Given the description of an element on the screen output the (x, y) to click on. 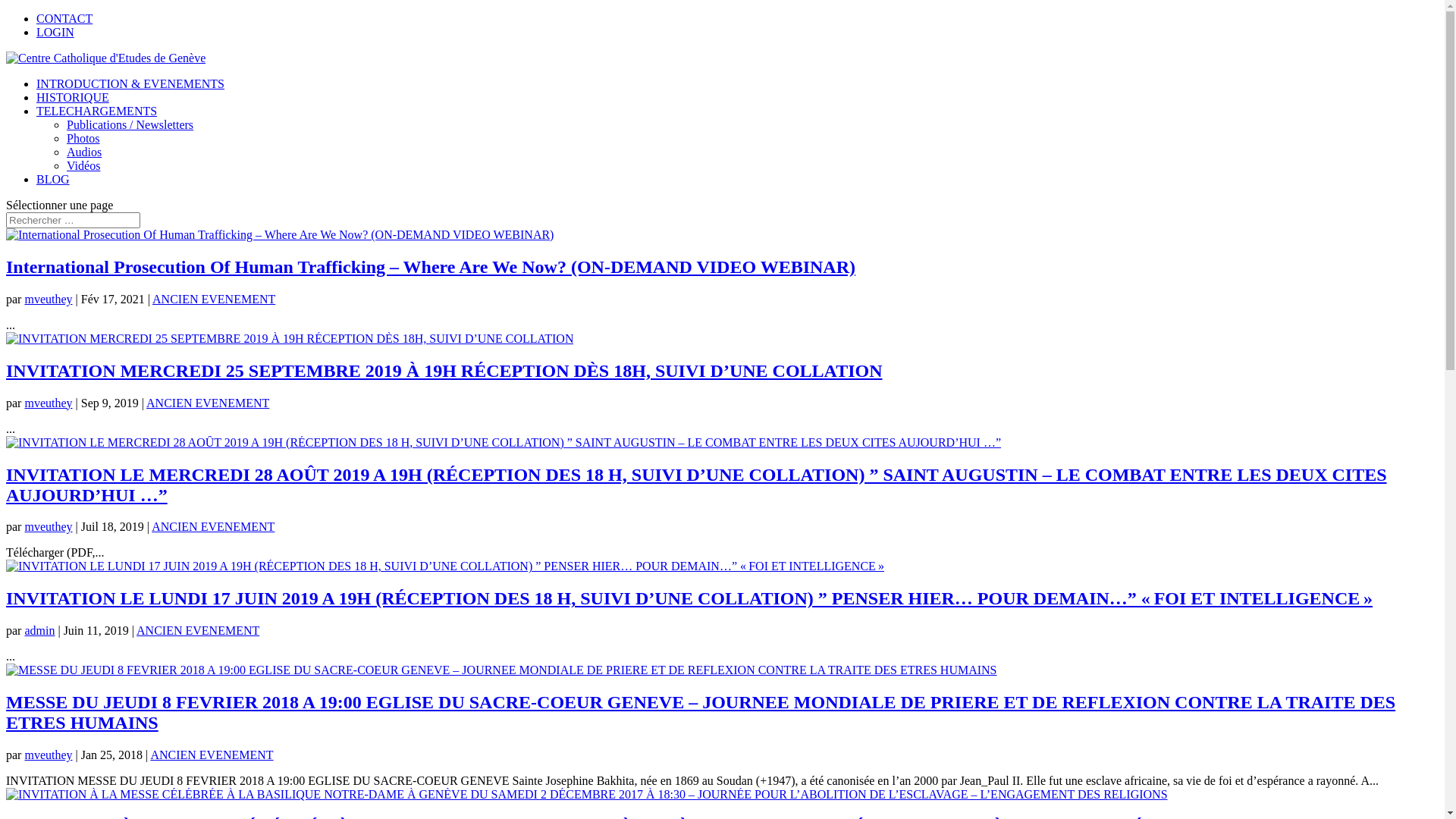
ANCIEN EVENEMENT Element type: text (197, 630)
TELECHARGEMENTS Element type: text (96, 110)
ANCIEN EVENEMENT Element type: text (207, 402)
admin Element type: text (39, 630)
mveuthey Element type: text (48, 402)
ANCIEN EVENEMENT Element type: text (211, 754)
Publications / Newsletters Element type: text (129, 124)
ANCIEN EVENEMENT Element type: text (213, 298)
CONTACT Element type: text (64, 18)
BLOG Element type: text (52, 178)
Audios Element type: text (83, 151)
mveuthey Element type: text (48, 754)
LOGIN Element type: text (55, 31)
Photos Element type: text (83, 137)
INTRODUCTION & EVENEMENTS Element type: text (130, 83)
ANCIEN EVENEMENT Element type: text (212, 526)
Rechercher: Element type: hover (73, 220)
mveuthey Element type: text (48, 526)
HISTORIQUE Element type: text (72, 97)
mveuthey Element type: text (48, 298)
